Given the description of an element on the screen output the (x, y) to click on. 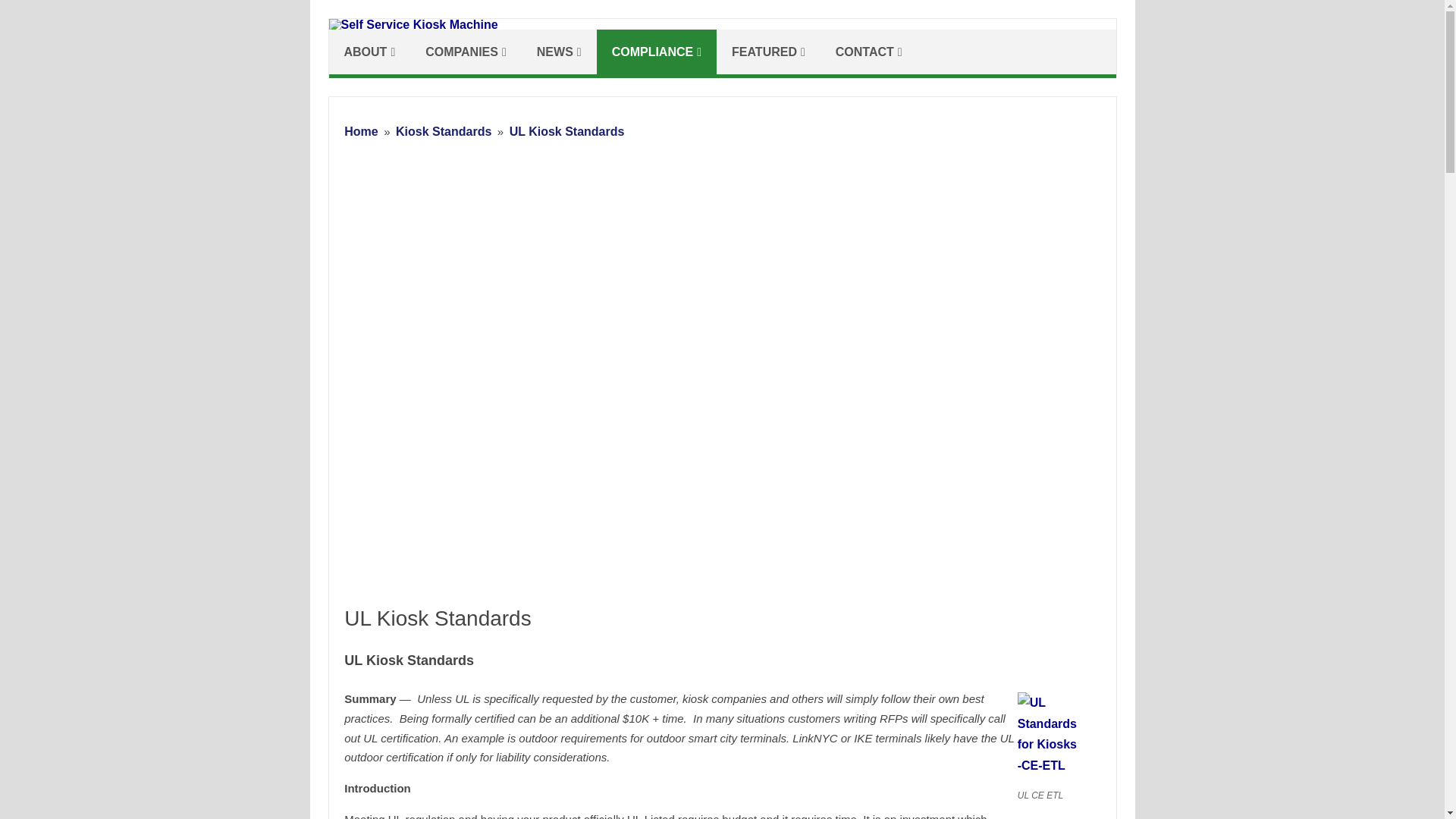
Self Service Kiosk Machine (413, 24)
NEWS (558, 51)
UL Standards for Kiosks -CE-ETL (1057, 765)
COMPANIES (465, 51)
ABOUT (369, 51)
